Given the description of an element on the screen output the (x, y) to click on. 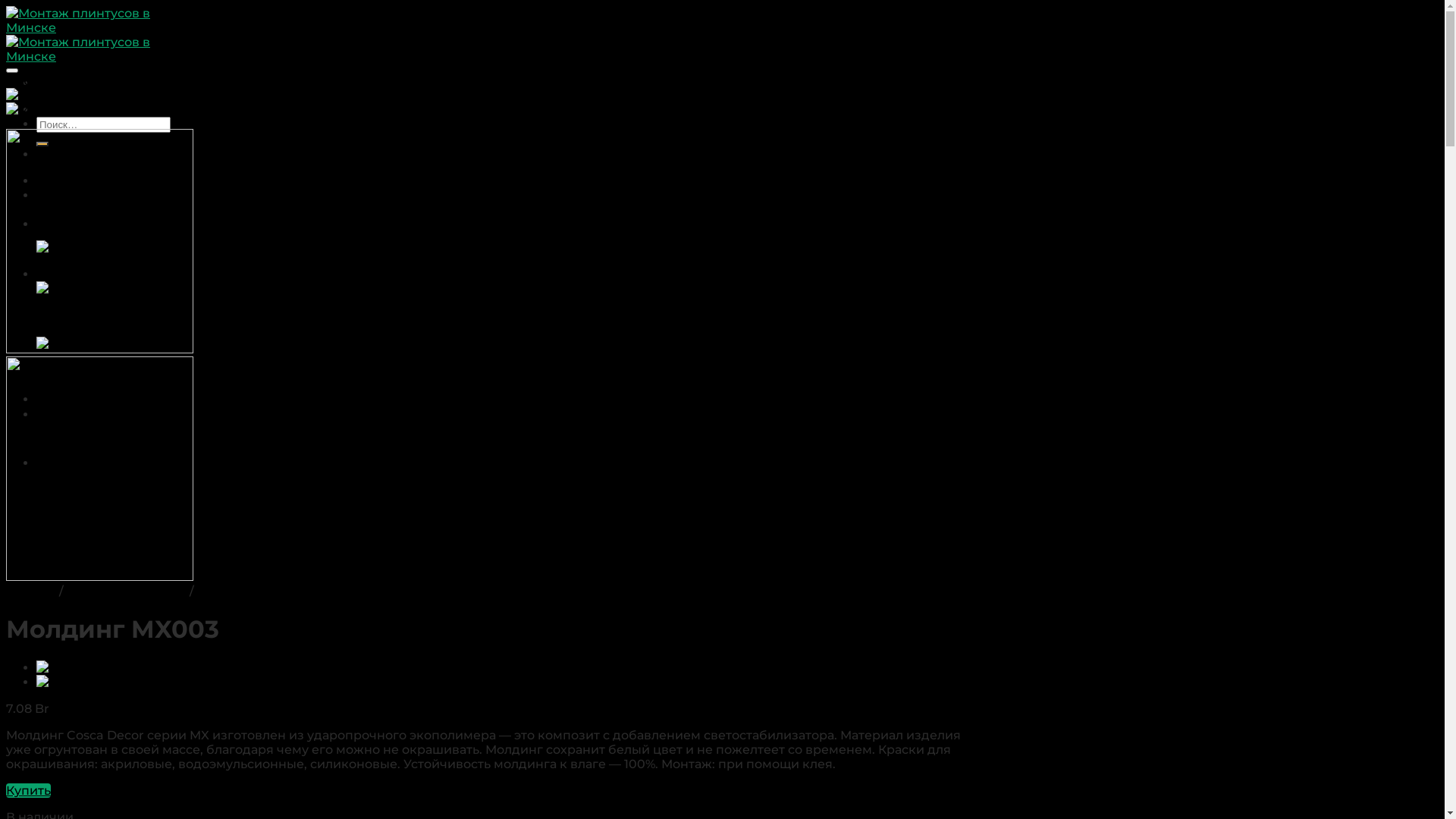
Skip to content Element type: text (5, 5)
+375 29 117 39 53 Element type: text (91, 429)
